Given the description of an element on the screen output the (x, y) to click on. 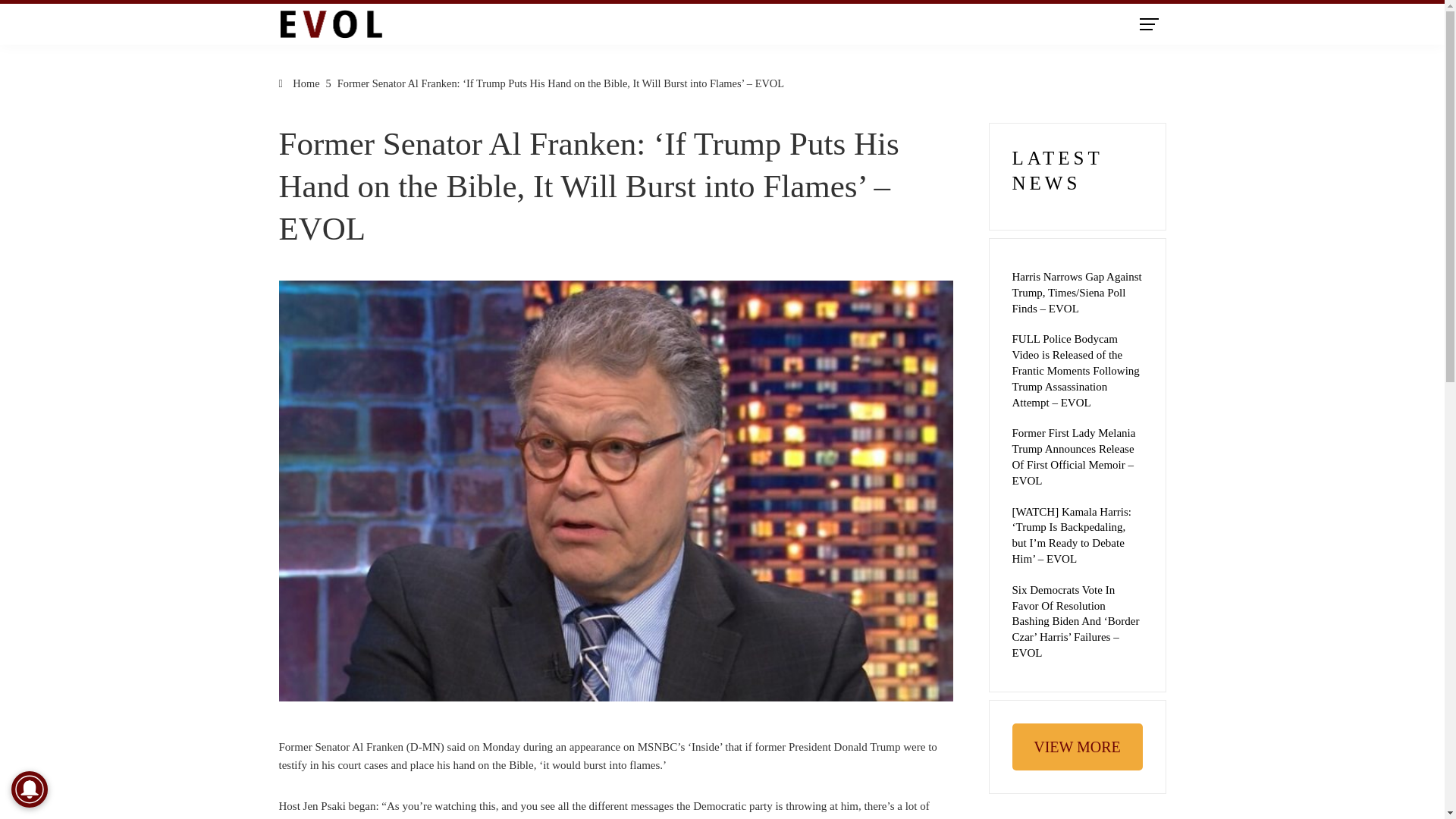
VIEW MORE (1076, 747)
Home (299, 82)
